Given the description of an element on the screen output the (x, y) to click on. 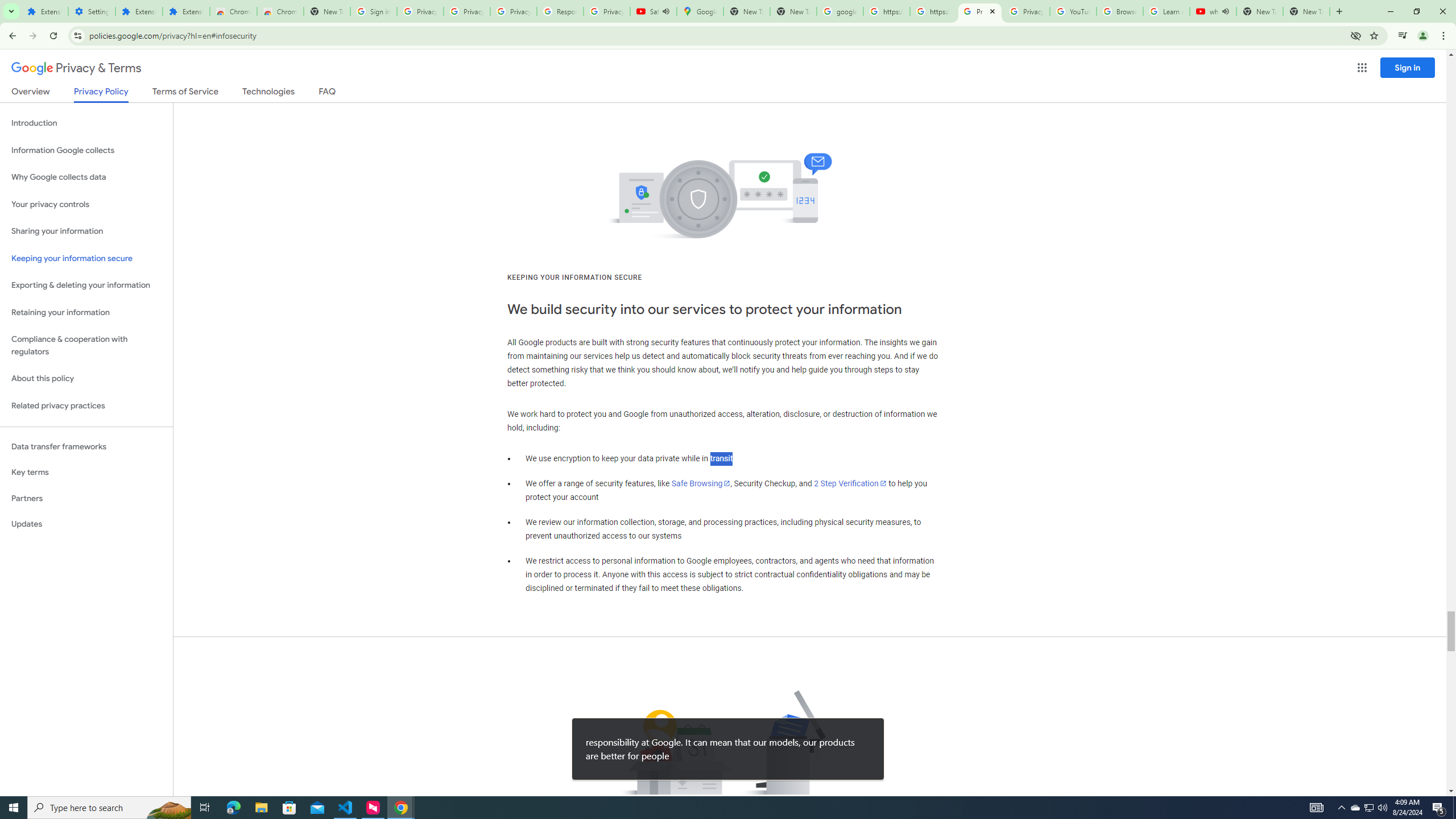
Your privacy controls (86, 204)
Keeping your information secure (86, 258)
Chrome Web Store (233, 11)
Google Maps (699, 11)
About this policy (86, 379)
